Given the description of an element on the screen output the (x, y) to click on. 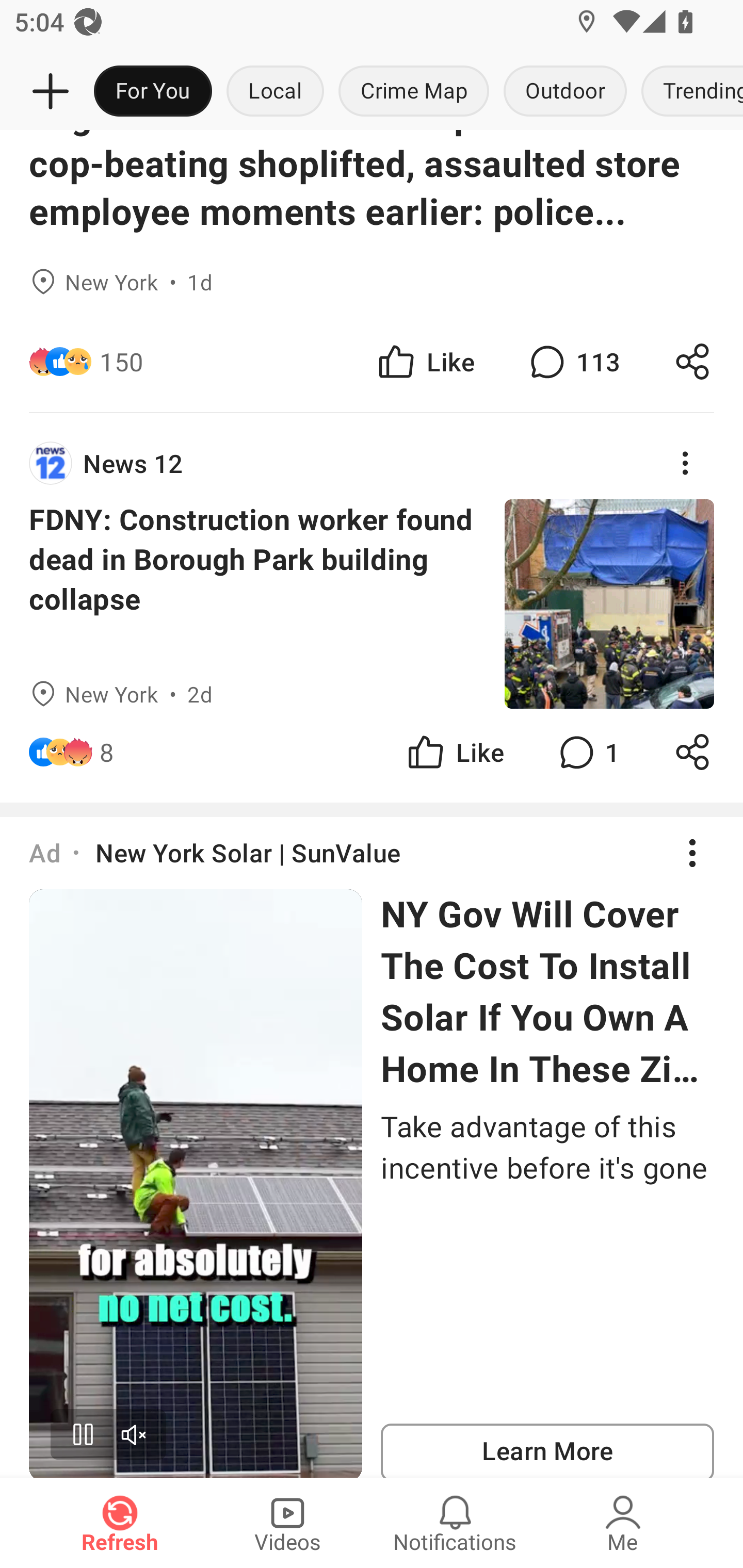
For You (152, 91)
Local (275, 91)
Crime Map (413, 91)
Outdoor (564, 91)
Trending (688, 91)
150 (121, 361)
Like (425, 361)
113 (572, 361)
8 (106, 751)
Like (454, 751)
1 (587, 751)
New York Solar | SunValue (248, 852)
Take advantage of this incentive before it's gone (547, 1146)
Learn More (547, 1450)
Videos (287, 1522)
Notifications (455, 1522)
Me (622, 1522)
